Given the description of an element on the screen output the (x, y) to click on. 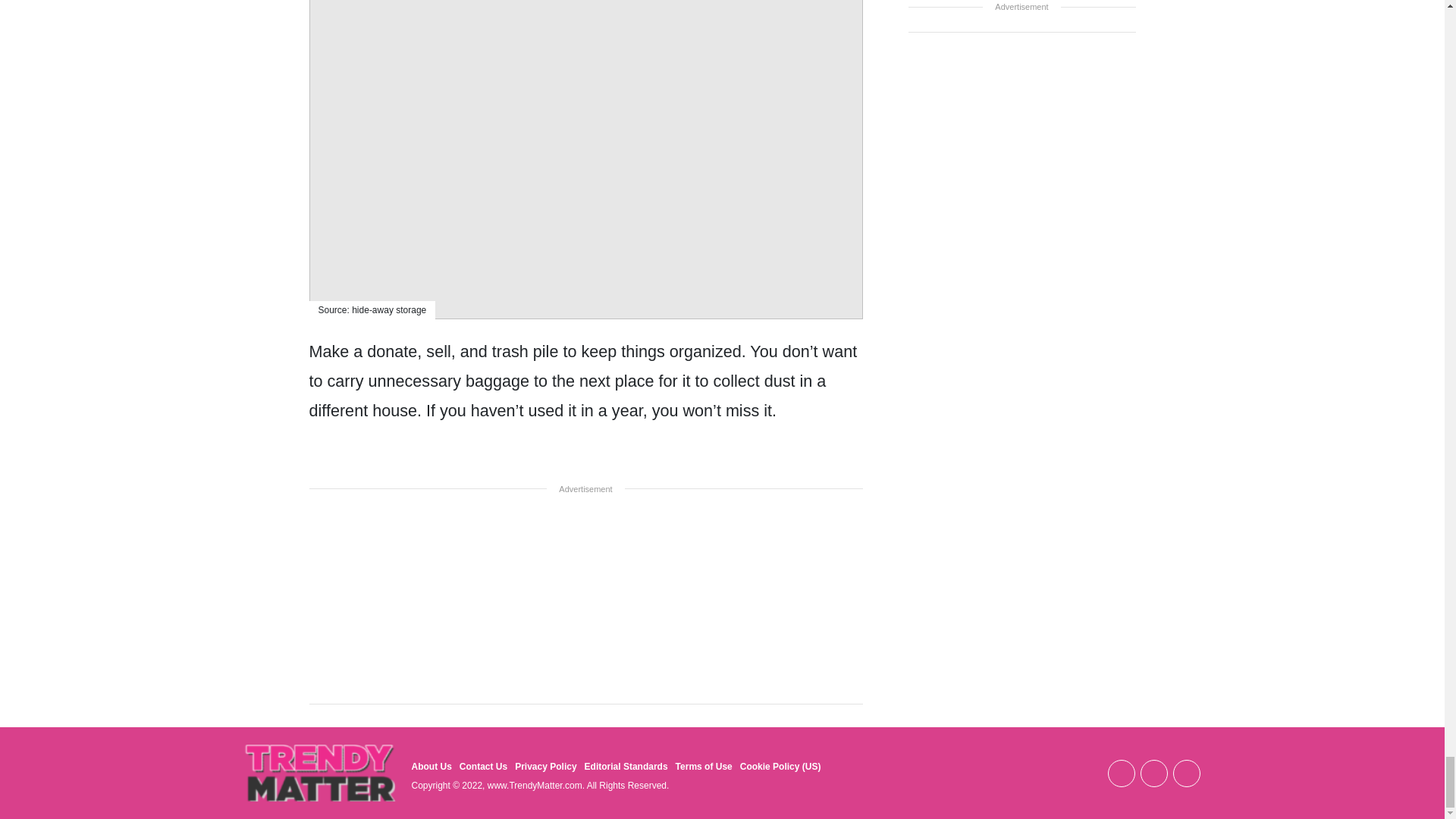
Contact Us (483, 766)
About Us (430, 766)
Terms of Use (703, 766)
Editorial Standards (626, 766)
Privacy Policy (545, 766)
